Given the description of an element on the screen output the (x, y) to click on. 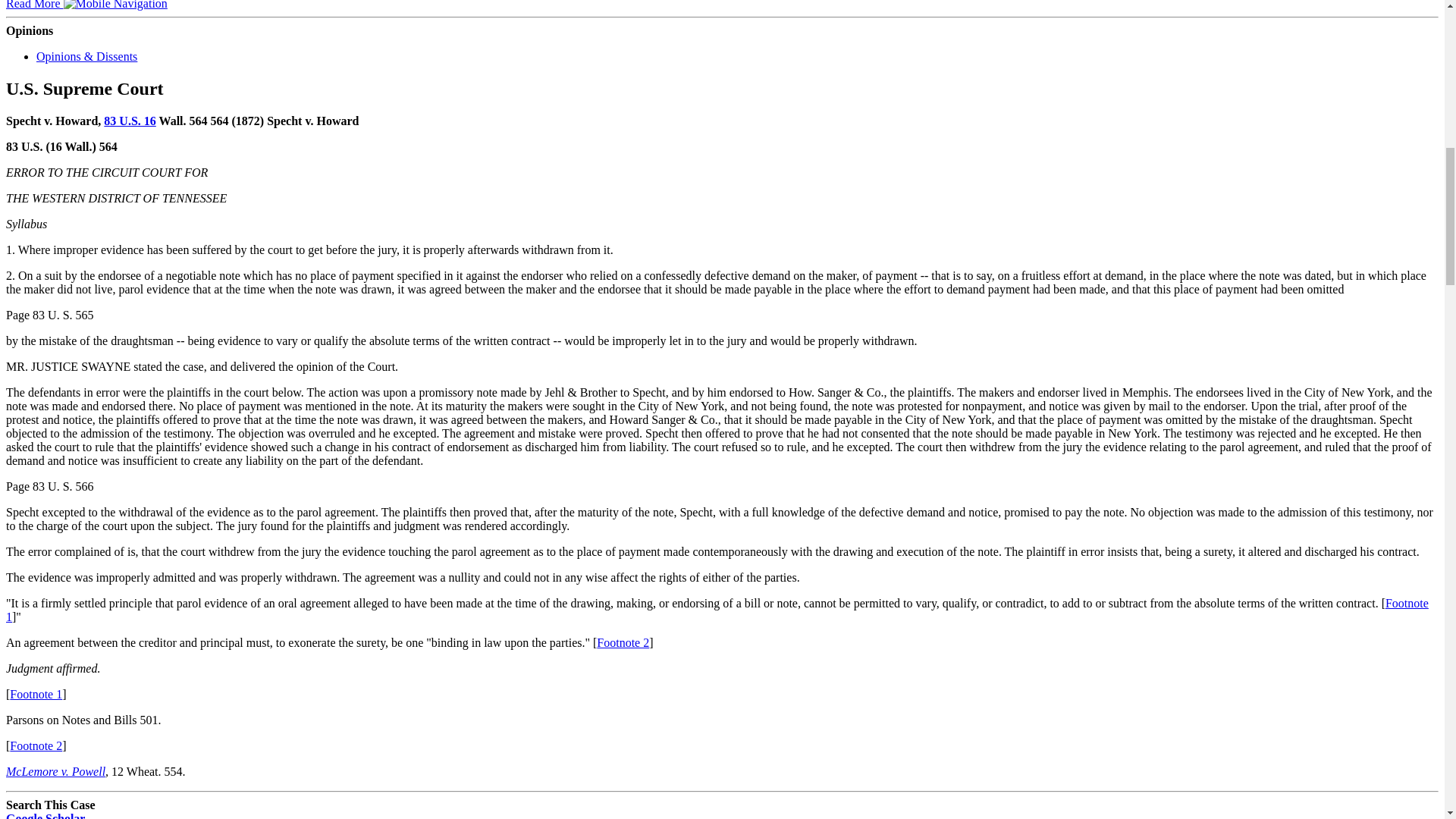
Law - Google Scholar (44, 815)
Read More (86, 4)
Mobile Navigation (115, 5)
Page 83 U. S. 565 (49, 314)
83 U.S. 16 (129, 119)
